Given the description of an element on the screen output the (x, y) to click on. 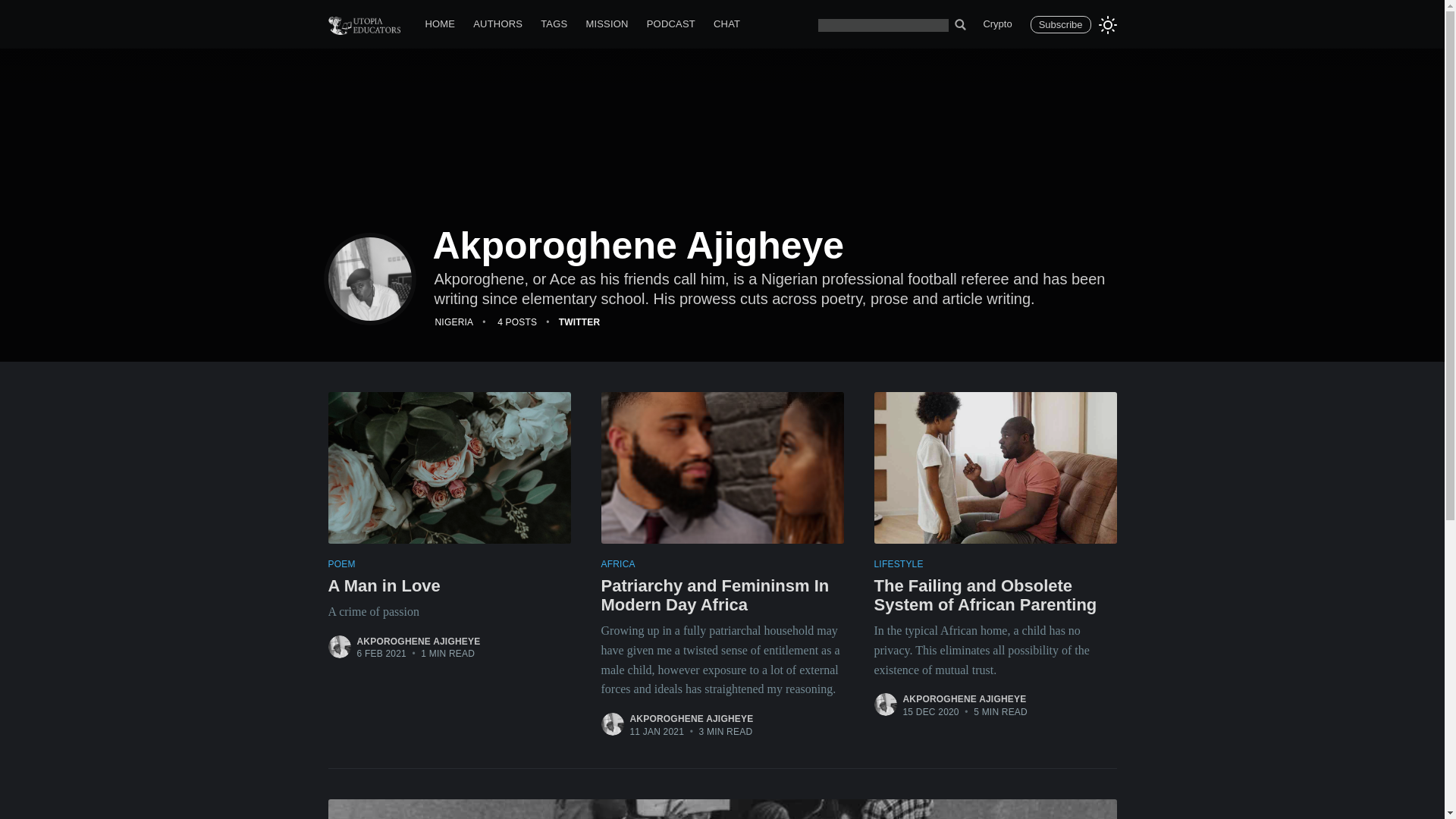
TWITTER (579, 321)
TAGS (553, 24)
PODCAST (670, 24)
AKPOROGHENE AJIGHEYE (690, 718)
AKPOROGHENE AJIGHEYE (964, 698)
AUTHORS (497, 24)
AKPOROGHENE AJIGHEYE (448, 588)
MISSION (418, 641)
